Given the description of an element on the screen output the (x, y) to click on. 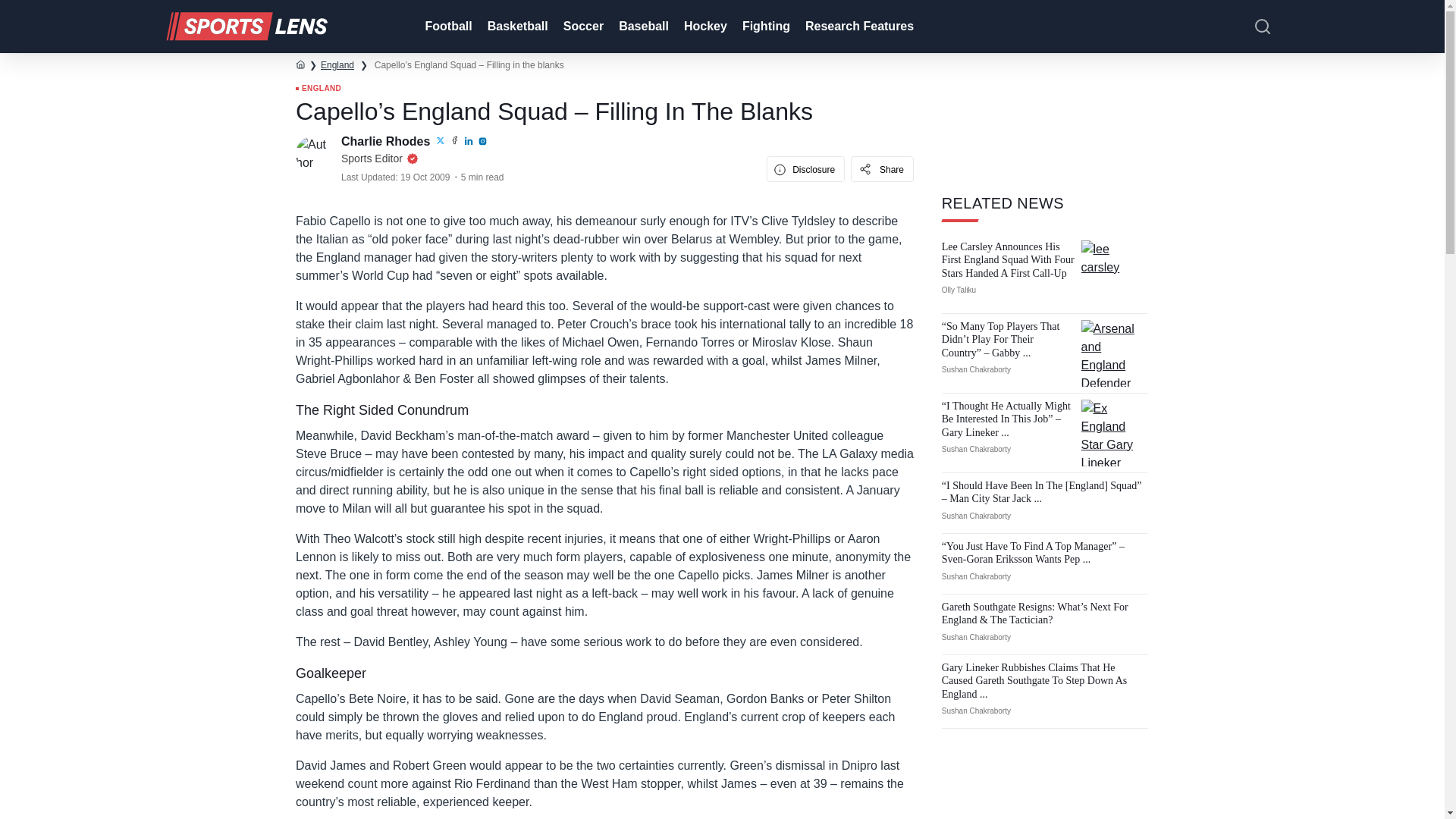
Charlie Rhodes (386, 141)
Hockey (704, 26)
England (336, 64)
Football (445, 26)
Fighting (764, 26)
Soccer (582, 26)
Share (882, 168)
Research Features (858, 26)
Baseball (642, 26)
Basketball (516, 26)
